Given the description of an element on the screen output the (x, y) to click on. 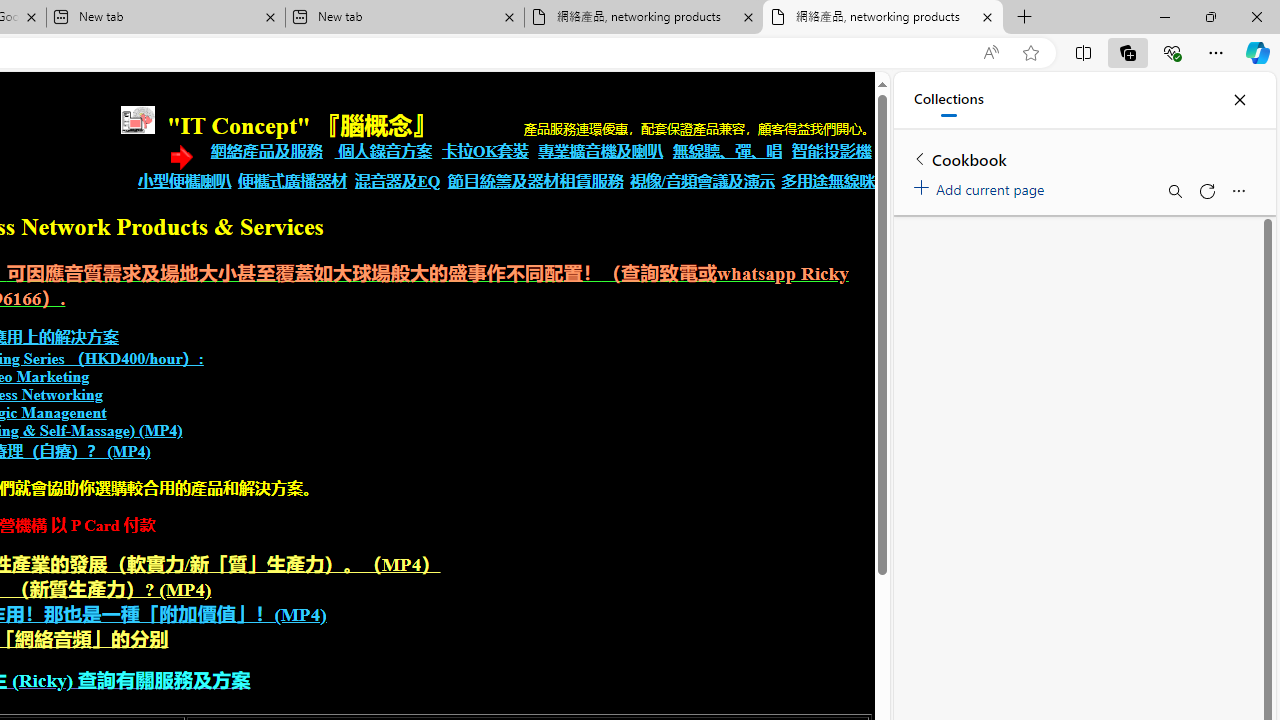
Back to list of collections (920, 158)
